Given the description of an element on the screen output the (x, y) to click on. 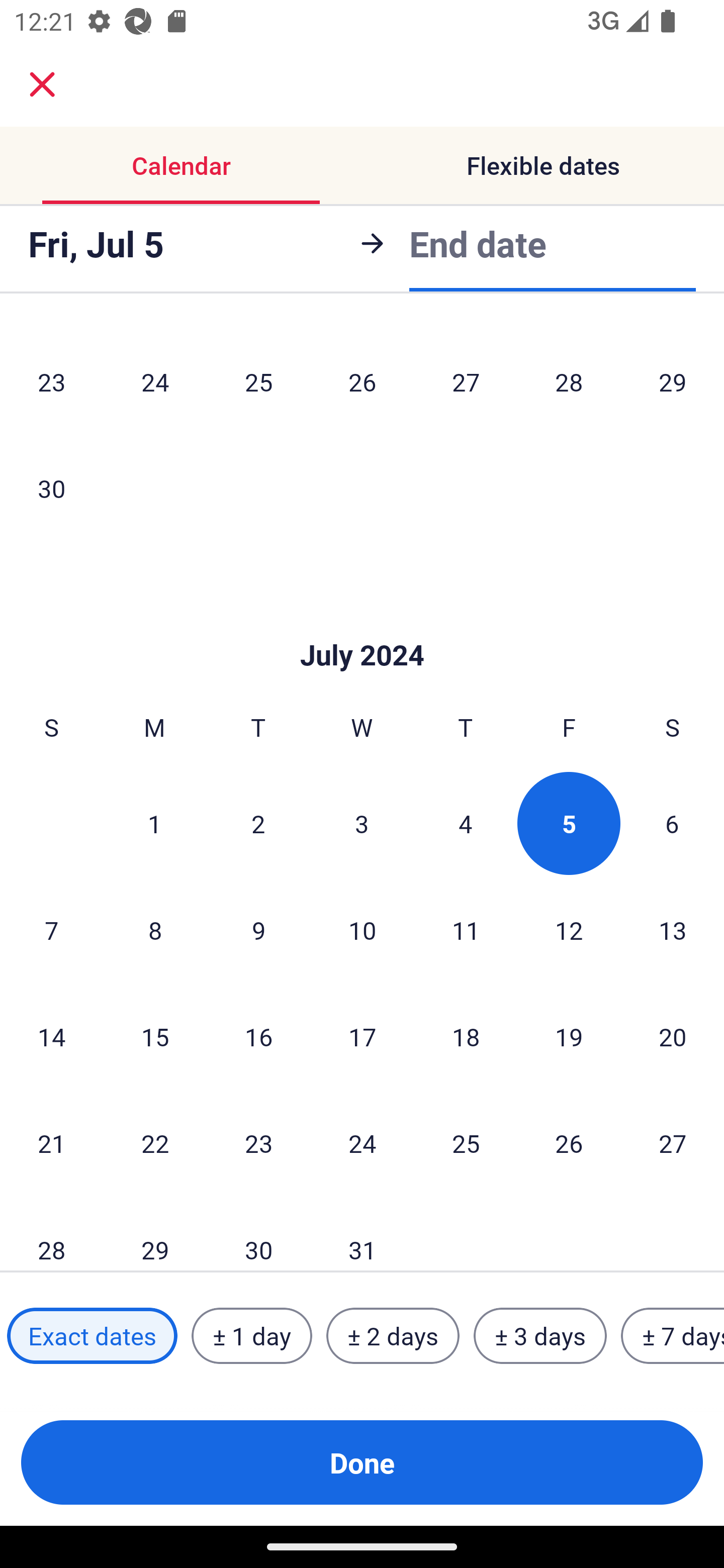
close. (42, 84)
Flexible dates (542, 164)
End date (477, 240)
23 Sunday, June 23, 2024 (51, 381)
24 Monday, June 24, 2024 (155, 381)
25 Tuesday, June 25, 2024 (258, 381)
26 Wednesday, June 26, 2024 (362, 381)
27 Thursday, June 27, 2024 (465, 381)
28 Friday, June 28, 2024 (569, 381)
29 Saturday, June 29, 2024 (672, 381)
30 Sunday, June 30, 2024 (51, 488)
Skip to Done (362, 625)
1 Monday, July 1, 2024 (154, 822)
2 Tuesday, July 2, 2024 (257, 822)
3 Wednesday, July 3, 2024 (361, 822)
4 Thursday, July 4, 2024 (465, 822)
6 Saturday, July 6, 2024 (672, 822)
7 Sunday, July 7, 2024 (51, 929)
8 Monday, July 8, 2024 (155, 929)
9 Tuesday, July 9, 2024 (258, 929)
10 Wednesday, July 10, 2024 (362, 929)
11 Thursday, July 11, 2024 (465, 929)
12 Friday, July 12, 2024 (569, 929)
13 Saturday, July 13, 2024 (672, 929)
14 Sunday, July 14, 2024 (51, 1036)
15 Monday, July 15, 2024 (155, 1036)
16 Tuesday, July 16, 2024 (258, 1036)
17 Wednesday, July 17, 2024 (362, 1036)
18 Thursday, July 18, 2024 (465, 1036)
19 Friday, July 19, 2024 (569, 1036)
20 Saturday, July 20, 2024 (672, 1036)
21 Sunday, July 21, 2024 (51, 1142)
22 Monday, July 22, 2024 (155, 1142)
23 Tuesday, July 23, 2024 (258, 1142)
24 Wednesday, July 24, 2024 (362, 1142)
25 Thursday, July 25, 2024 (465, 1142)
26 Friday, July 26, 2024 (569, 1142)
27 Saturday, July 27, 2024 (672, 1142)
28 Sunday, July 28, 2024 (51, 1233)
29 Monday, July 29, 2024 (155, 1233)
30 Tuesday, July 30, 2024 (258, 1233)
31 Wednesday, July 31, 2024 (362, 1233)
Exact dates (92, 1335)
± 1 day (251, 1335)
± 2 days (392, 1335)
± 3 days (539, 1335)
± 7 days (672, 1335)
Done (361, 1462)
